Given the description of an element on the screen output the (x, y) to click on. 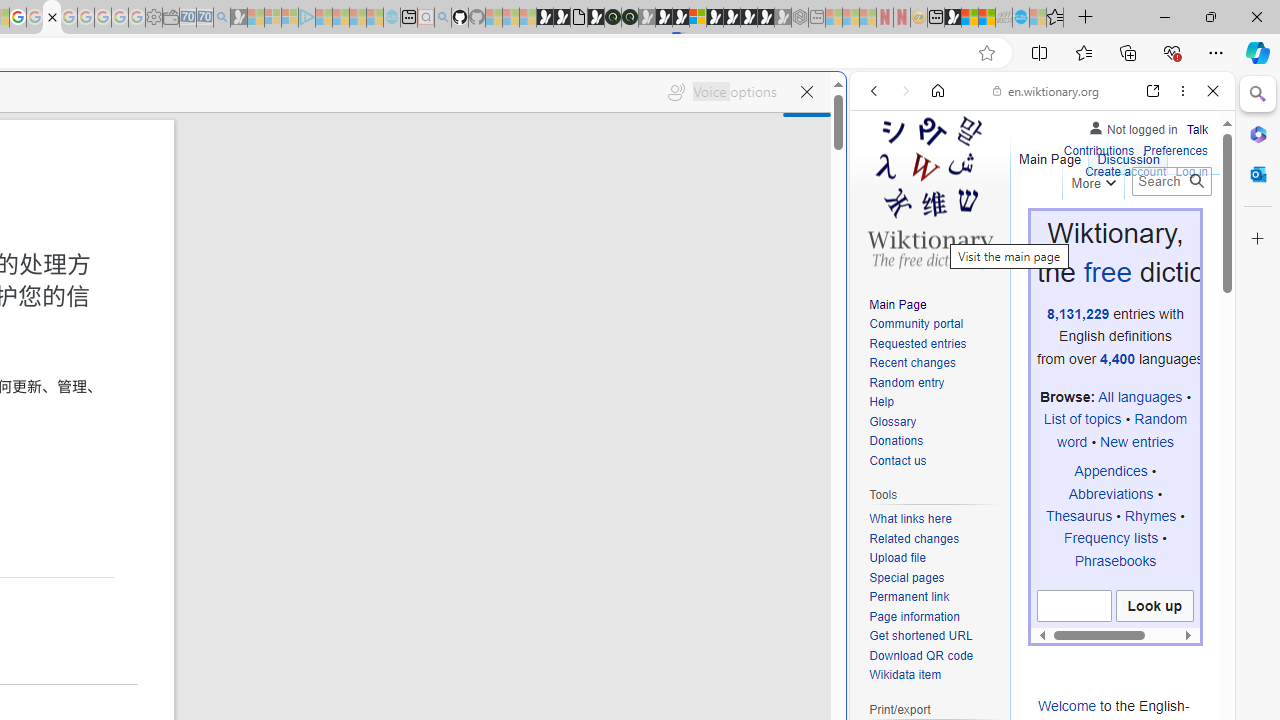
Permanent link (909, 596)
What links here (910, 519)
Frequently visited (418, 265)
Wikidata item (934, 676)
Requested entries (917, 343)
Future Focus Report 2024 (629, 17)
github - Search - Sleeping (442, 17)
